Given the description of an element on the screen output the (x, y) to click on. 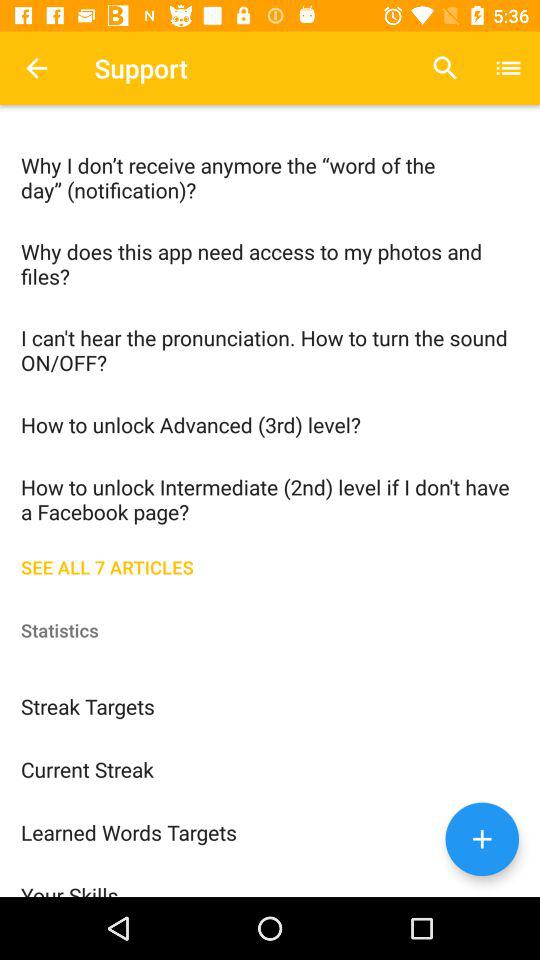
scroll until the your skills (270, 879)
